Given the description of an element on the screen output the (x, y) to click on. 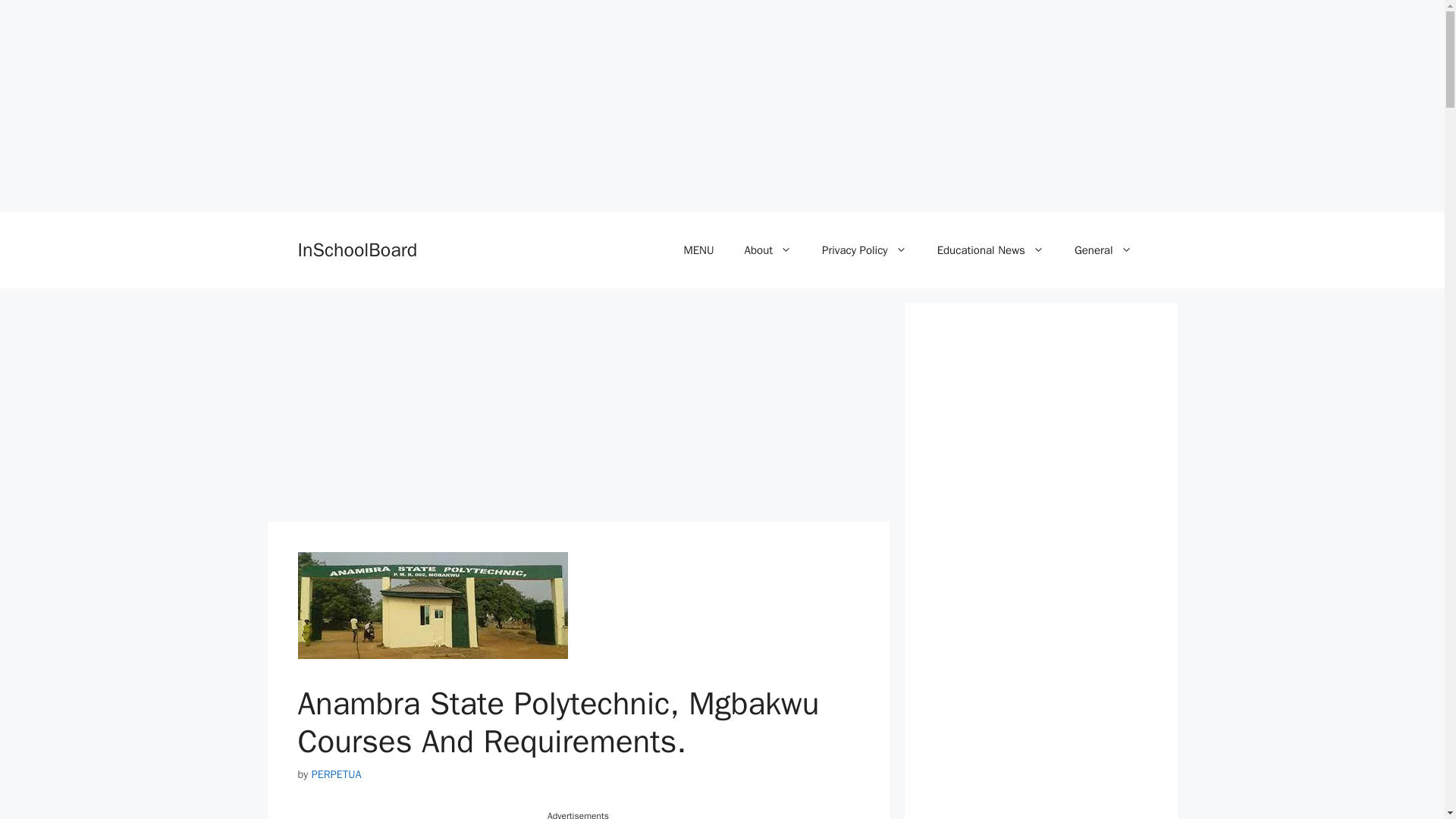
Privacy Policy (863, 249)
InSchoolBoard (356, 249)
General (1103, 249)
About (767, 249)
Educational News (990, 249)
MENU (698, 249)
PERPETUA (336, 774)
View all posts by PERPETUA (336, 774)
